Given the description of an element on the screen output the (x, y) to click on. 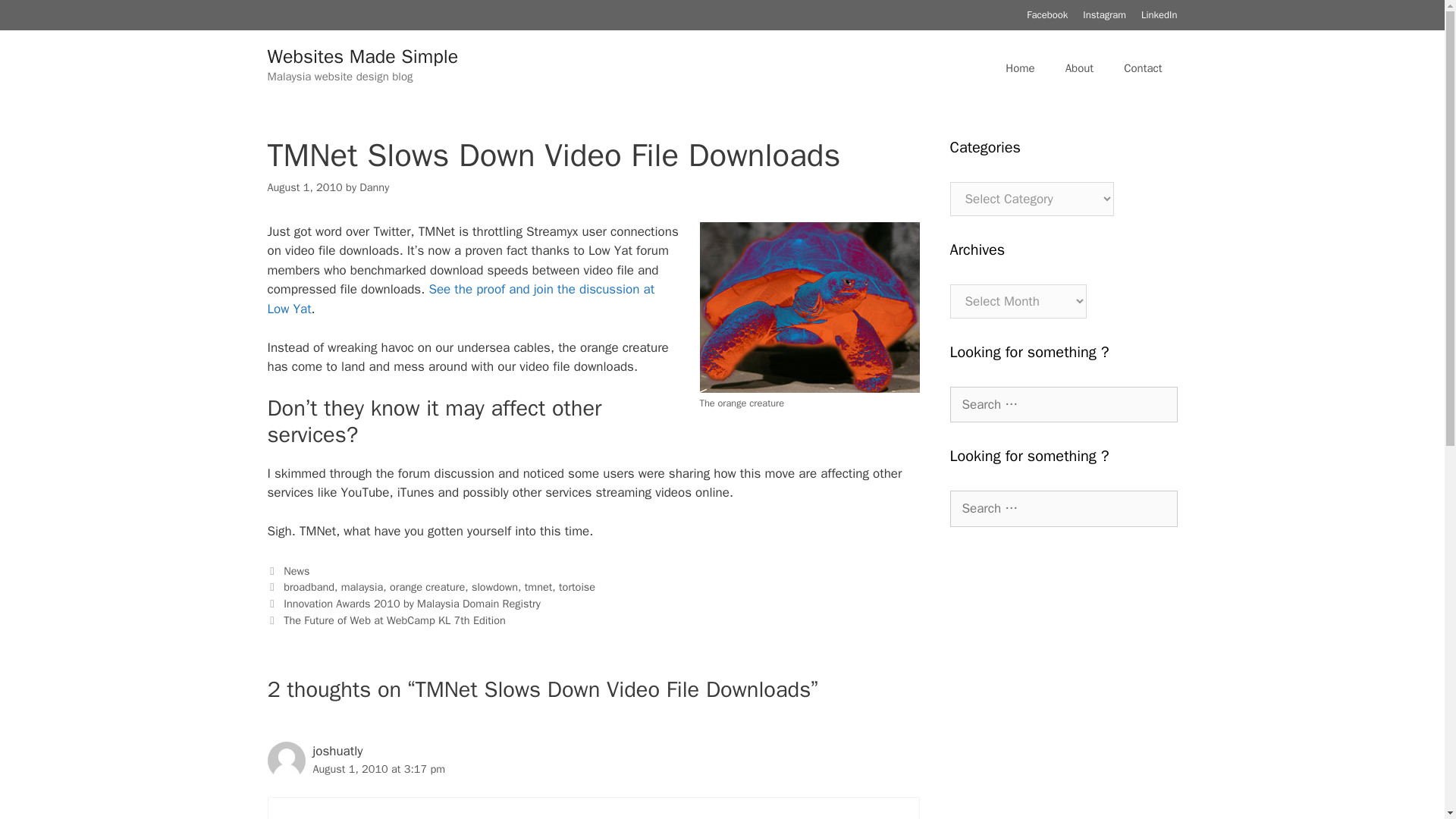
August 1, 2010 at 3:17 pm (379, 768)
orange-tortoise (808, 307)
News (295, 571)
slowdown (494, 586)
Low yat forum (459, 298)
See the proof and join the discussion at Low Yat (459, 298)
malaysia (362, 586)
LinkedIn (1159, 14)
Search (35, 18)
About (1078, 67)
Danny (373, 187)
Home (1019, 67)
orange creature (427, 586)
View all posts by Danny (373, 187)
Contact (1142, 67)
